Given the description of an element on the screen output the (x, y) to click on. 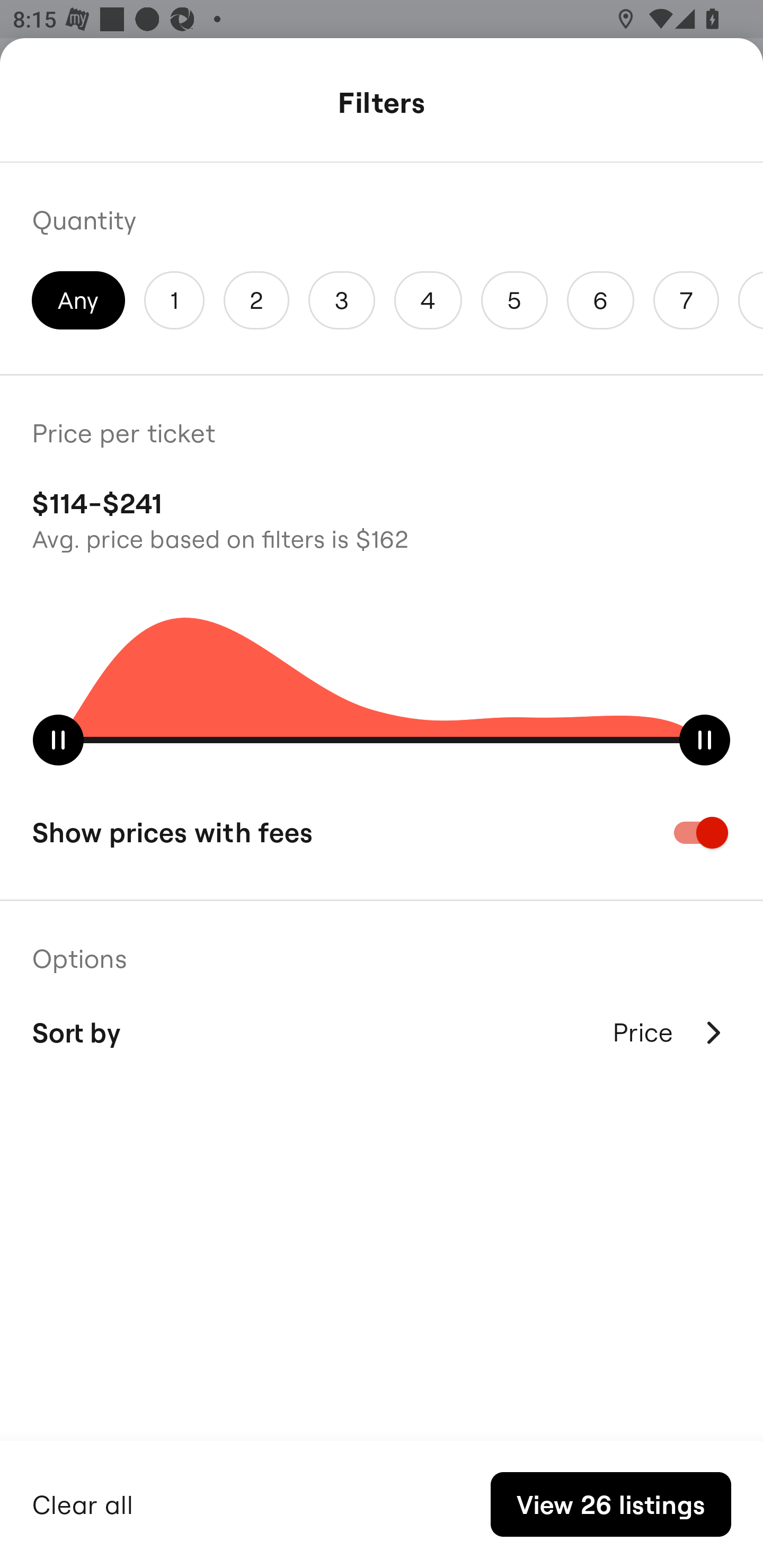
Back Matt Rife Wed, Mar 20, 7 PM Info (381, 104)
Any (78, 300)
1 (173, 300)
2 (256, 300)
3 (341, 300)
4 (427, 300)
5 (514, 300)
6 (601, 300)
7 (685, 300)
$114-$241 Avg. price based on filters is $162 (381, 518)
Show prices with fees (381, 832)
Sort by Price (381, 1032)
Clear all (83, 1502)
View 26 listings (610, 1504)
